Given the description of an element on the screen output the (x, y) to click on. 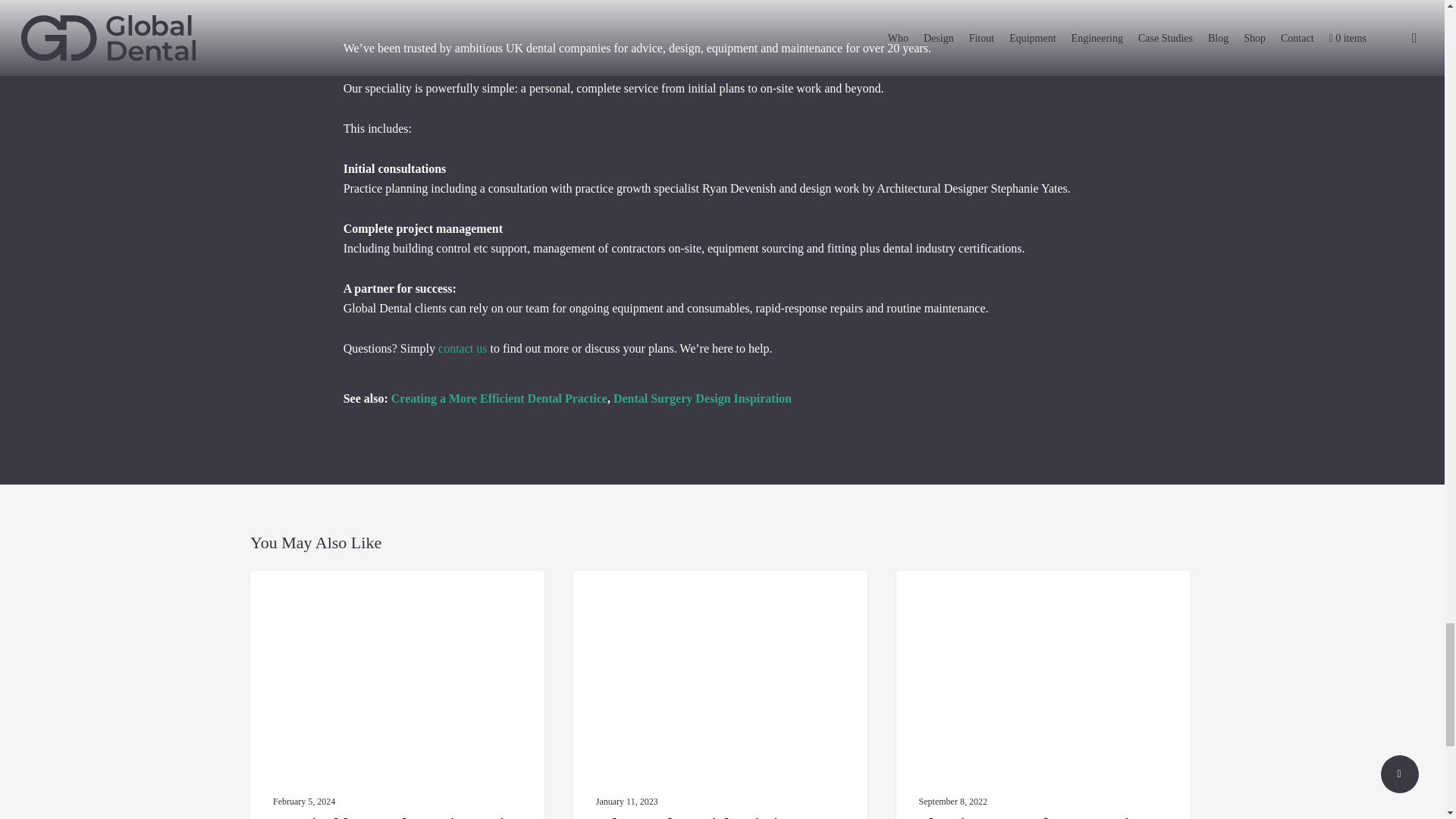
DENTAL INDUSTRY (640, 595)
Dental Surgery Design Inspiration (702, 398)
What Is The Weight Limit For A Dental Chair? (720, 694)
DENTAL INDUSTRY (316, 595)
contact us (462, 348)
Sustainable Dental Practice Design (397, 694)
Creating a More Efficient Dental Practice (499, 398)
DENTAL INDUSTRY (963, 595)
